Given the description of an element on the screen output the (x, y) to click on. 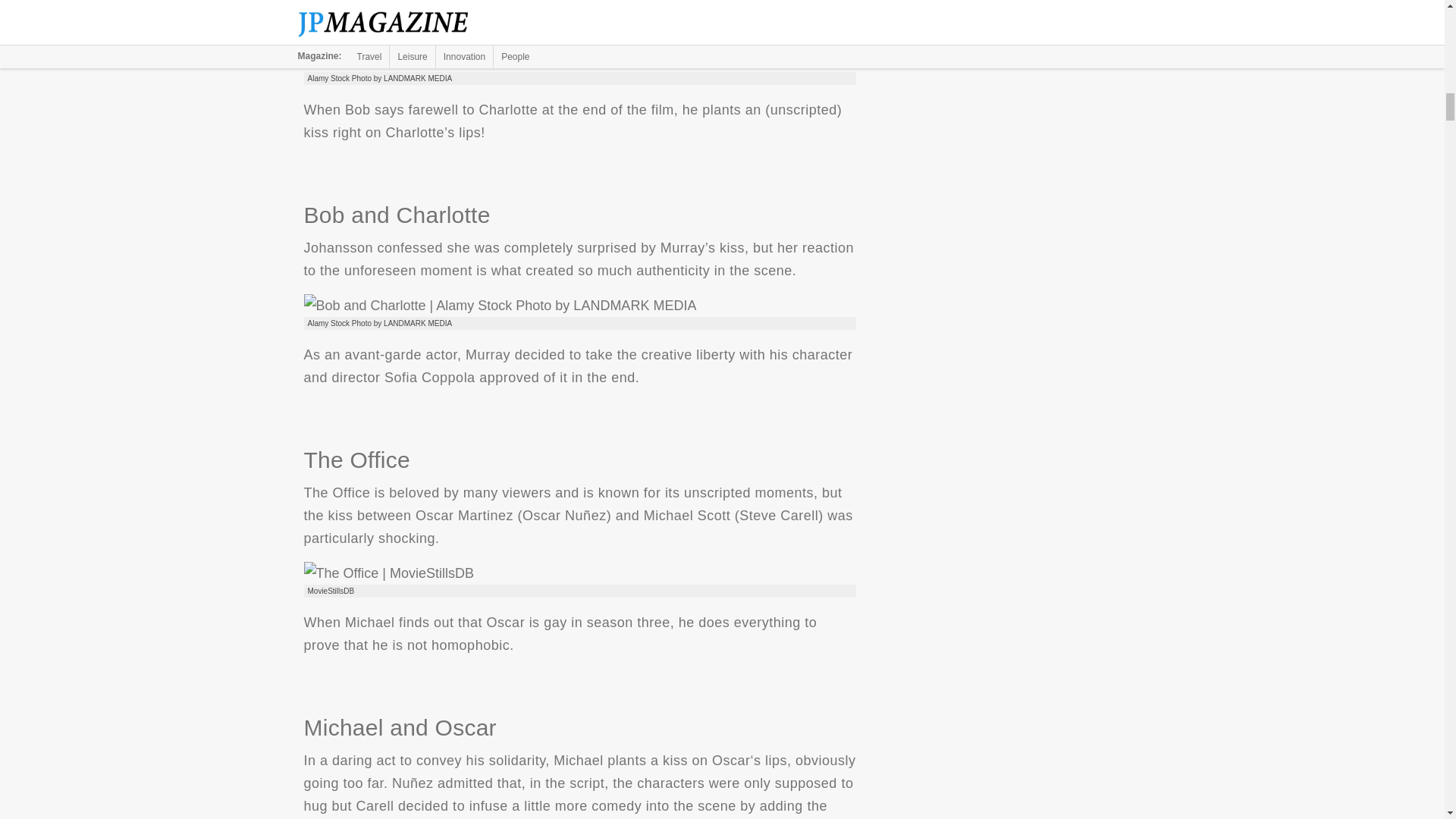
Bob and Charlotte (498, 305)
Lost in Translation (499, 60)
The Office (387, 572)
